Given the description of an element on the screen output the (x, y) to click on. 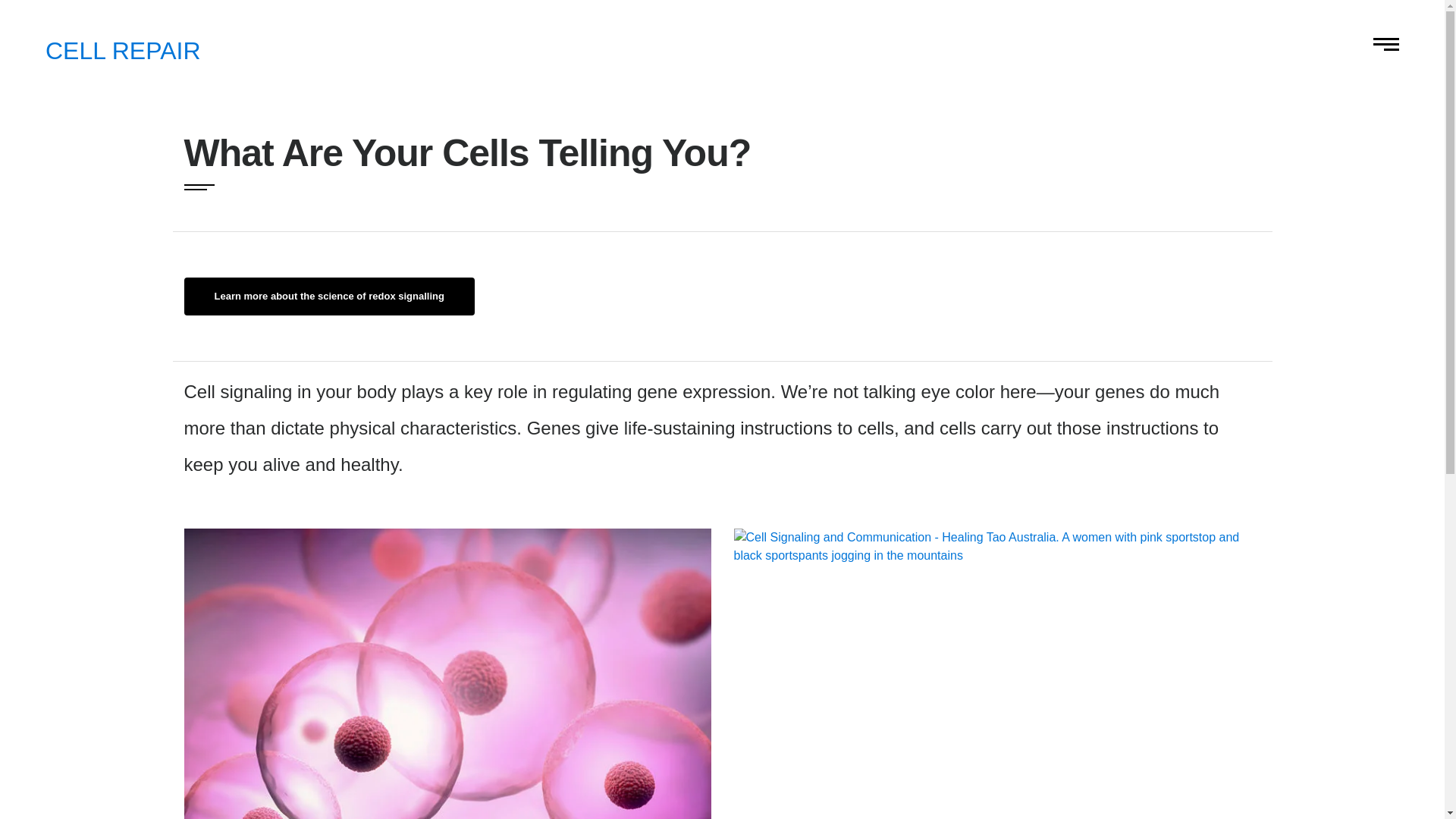
CELL REPAIR (122, 54)
Learn more about the science of redox signalling (400, 296)
Learn more about the science of redox signalling (328, 296)
